Given the description of an element on the screen output the (x, y) to click on. 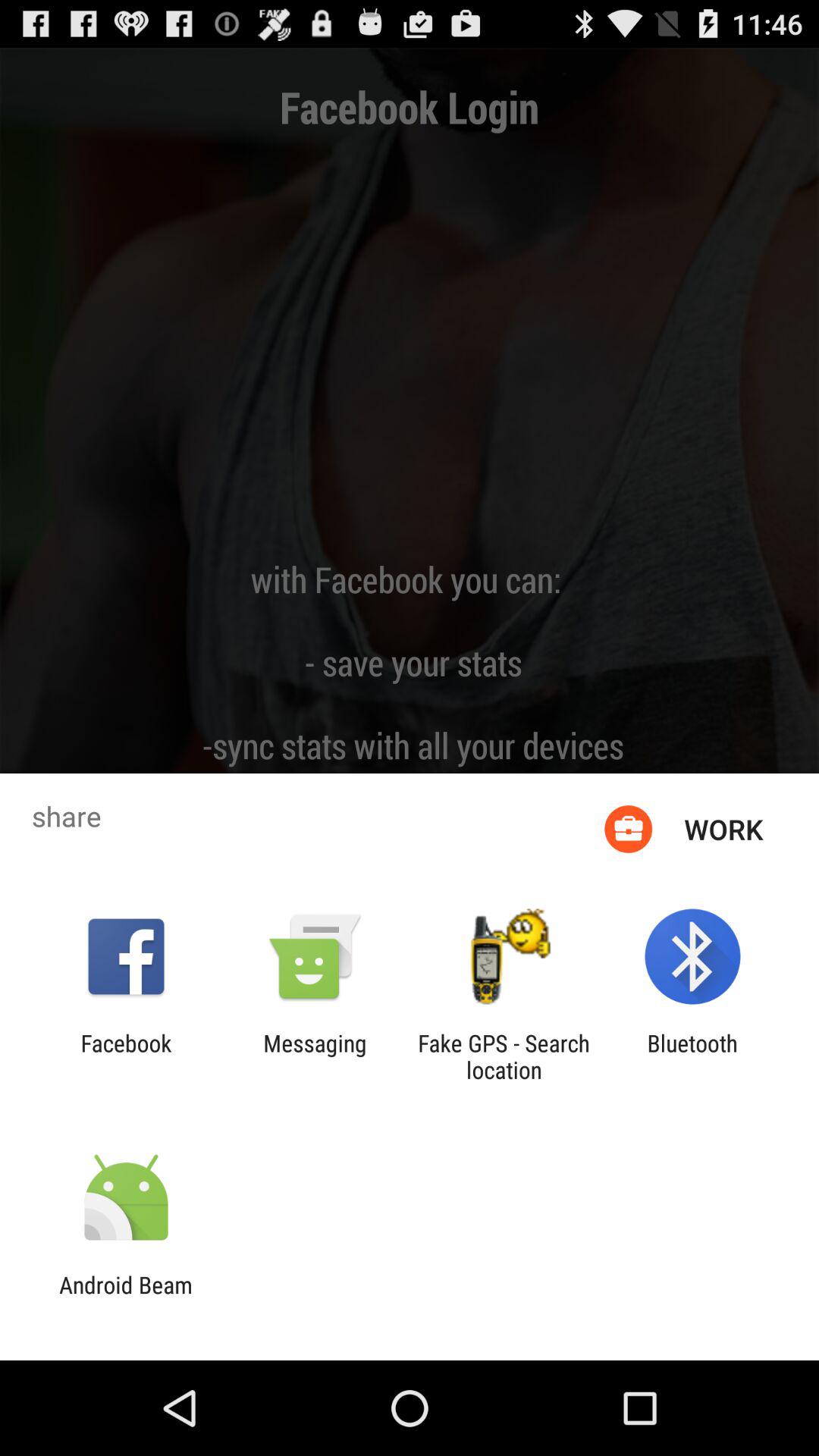
turn on the app to the right of messaging item (503, 1056)
